Given the description of an element on the screen output the (x, y) to click on. 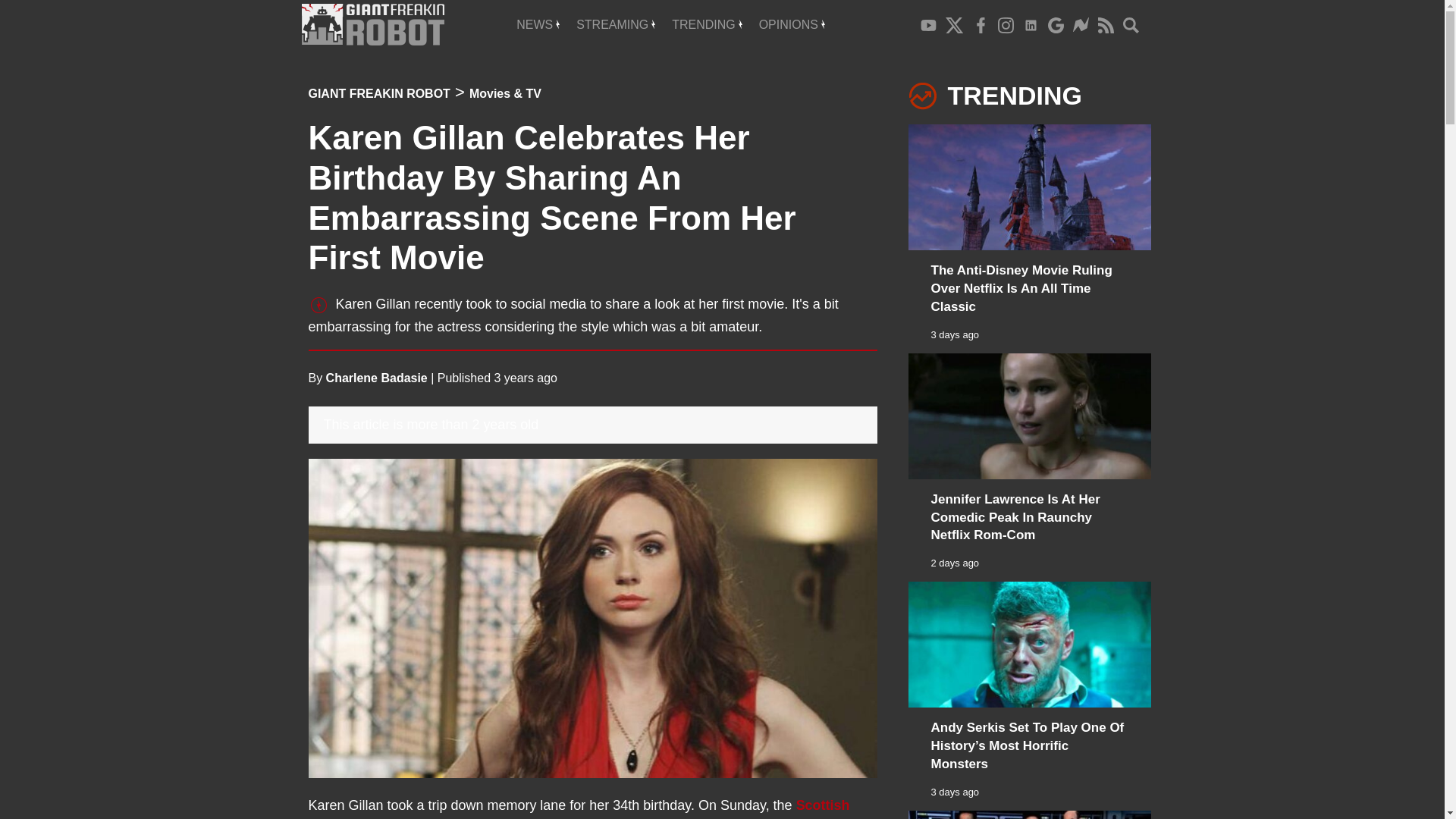
TRENDING (706, 24)
OPINIONS (791, 24)
GIANT FREAKIN ROBOT (378, 92)
STREAMING (615, 24)
NEWS (537, 24)
Entertainment News (537, 24)
Trending (706, 24)
Streaming (615, 24)
